Given the description of an element on the screen output the (x, y) to click on. 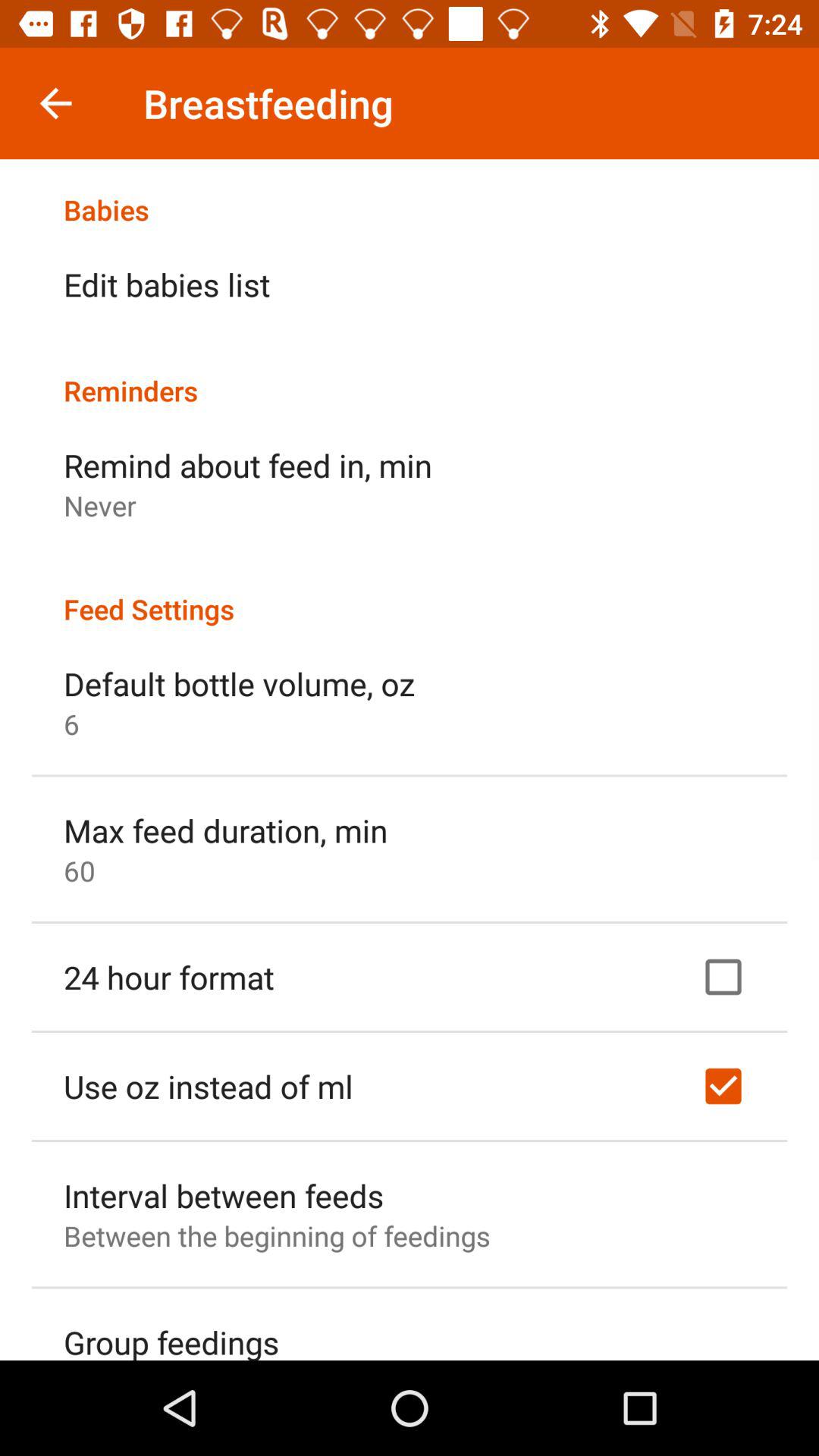
launch the item below default bottle volume item (71, 723)
